Given the description of an element on the screen output the (x, y) to click on. 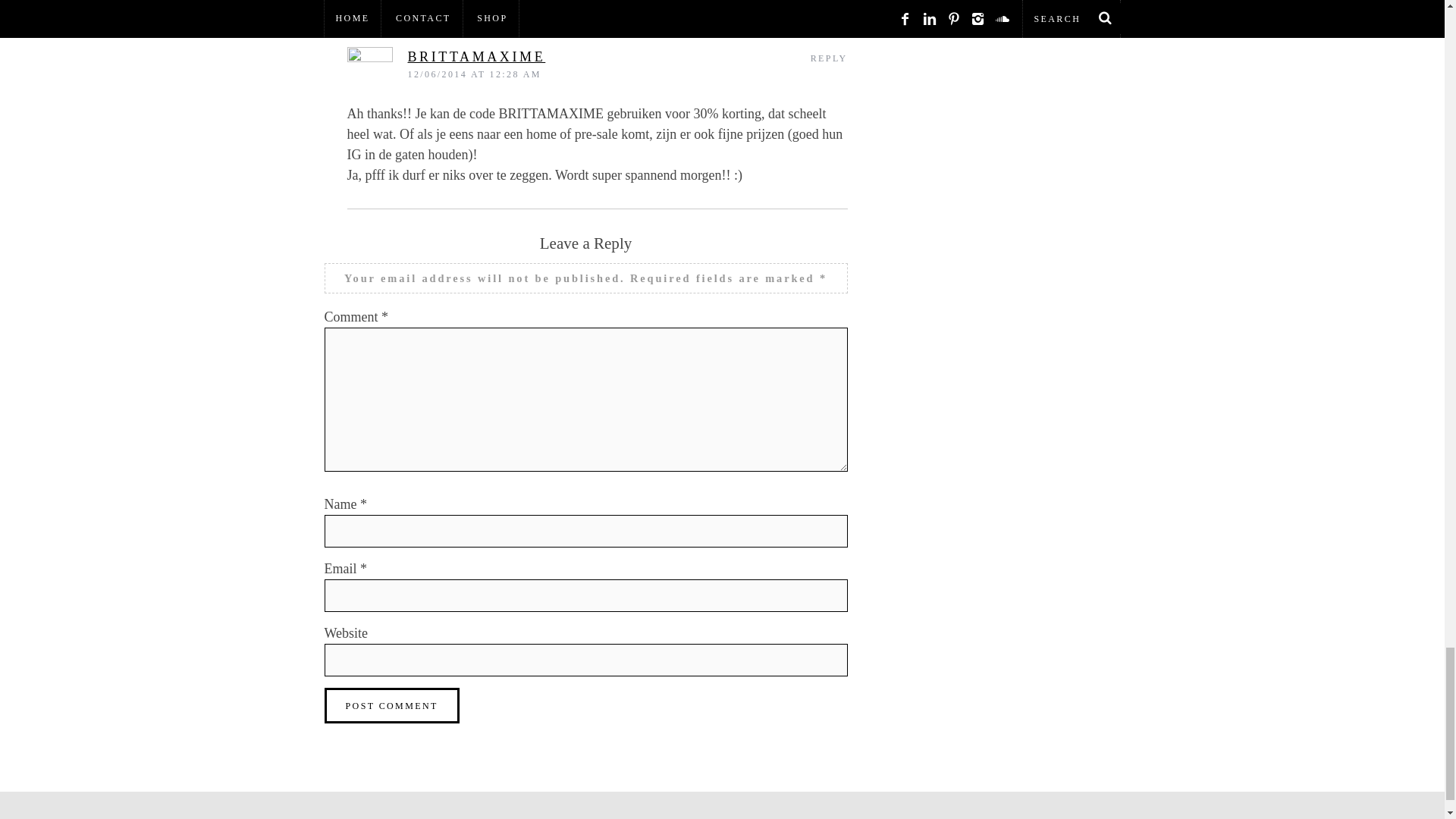
Post Comment (392, 705)
